Given the description of an element on the screen output the (x, y) to click on. 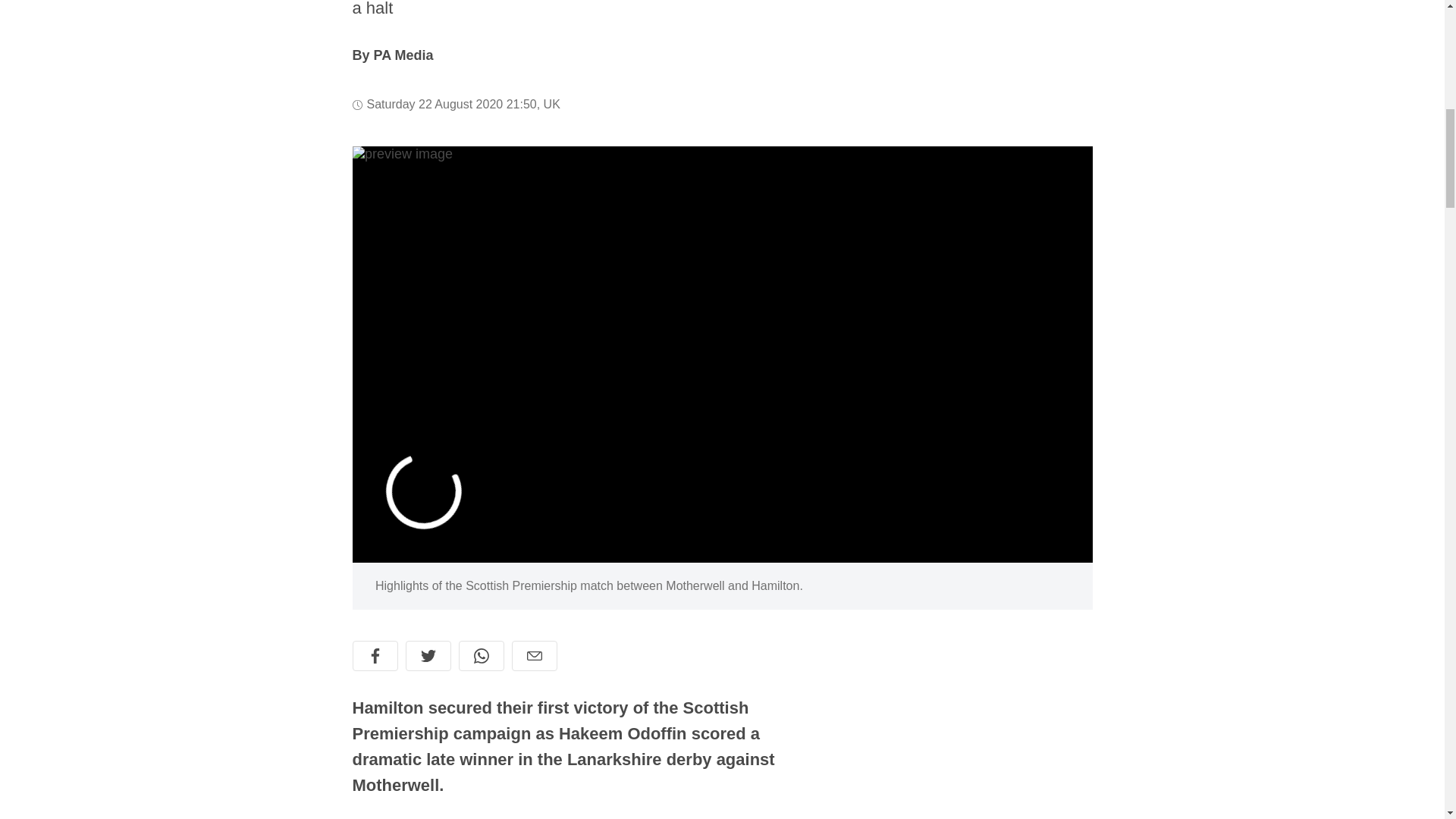
Share on WhatsApp (480, 655)
Share by email (533, 655)
Share on Facebook (374, 655)
Share on Twitter (426, 655)
